Given the description of an element on the screen output the (x, y) to click on. 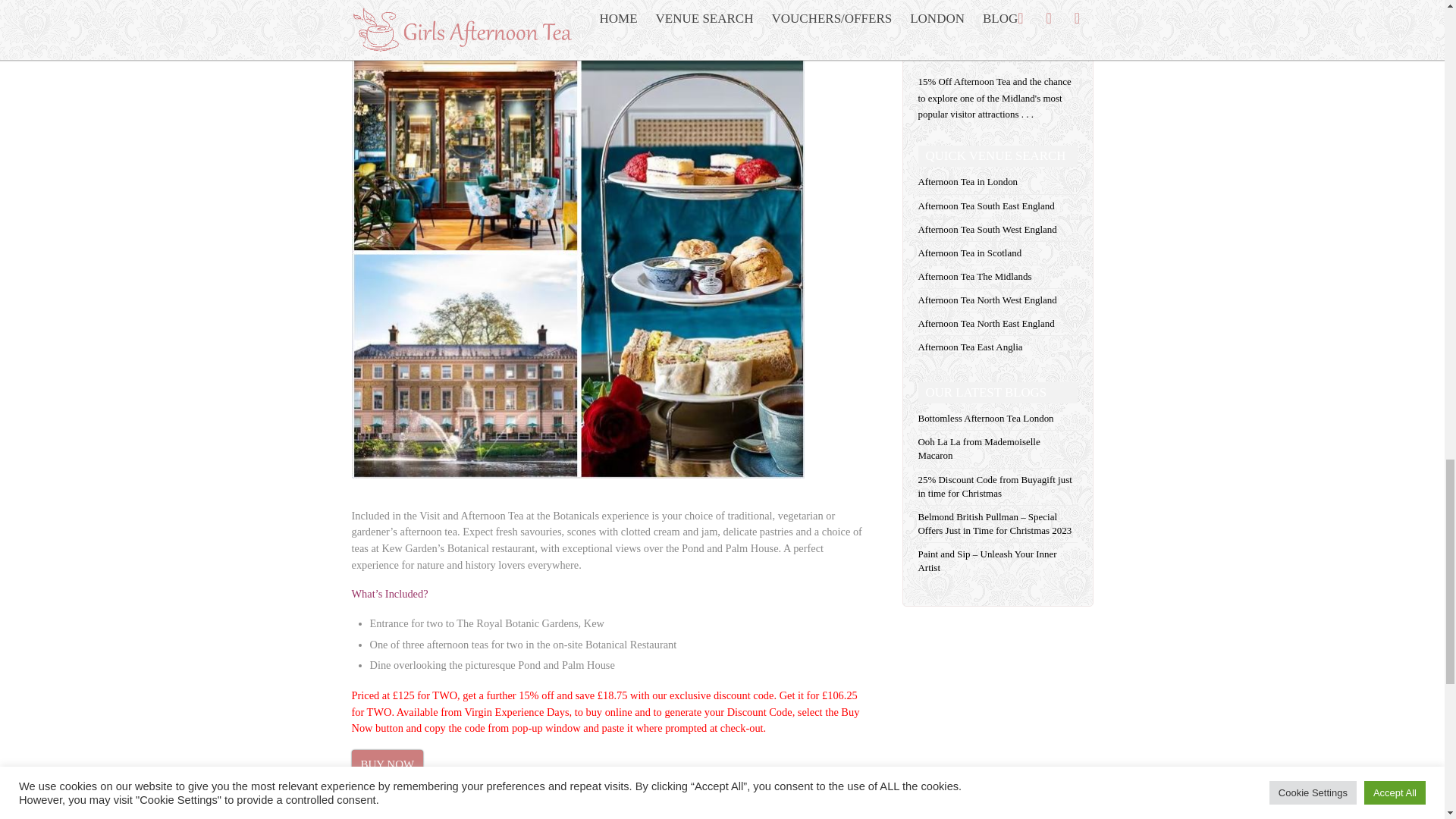
Afternoon Tea South East England (985, 205)
BUY NOW (387, 764)
Afternoon Tea North West England (987, 299)
Afternoon Tea The Midlands (973, 276)
Afternoon Tea London (967, 181)
Afternoon Tea South West England (987, 229)
Afternoon Tea Scotland (969, 252)
